Given the description of an element on the screen output the (x, y) to click on. 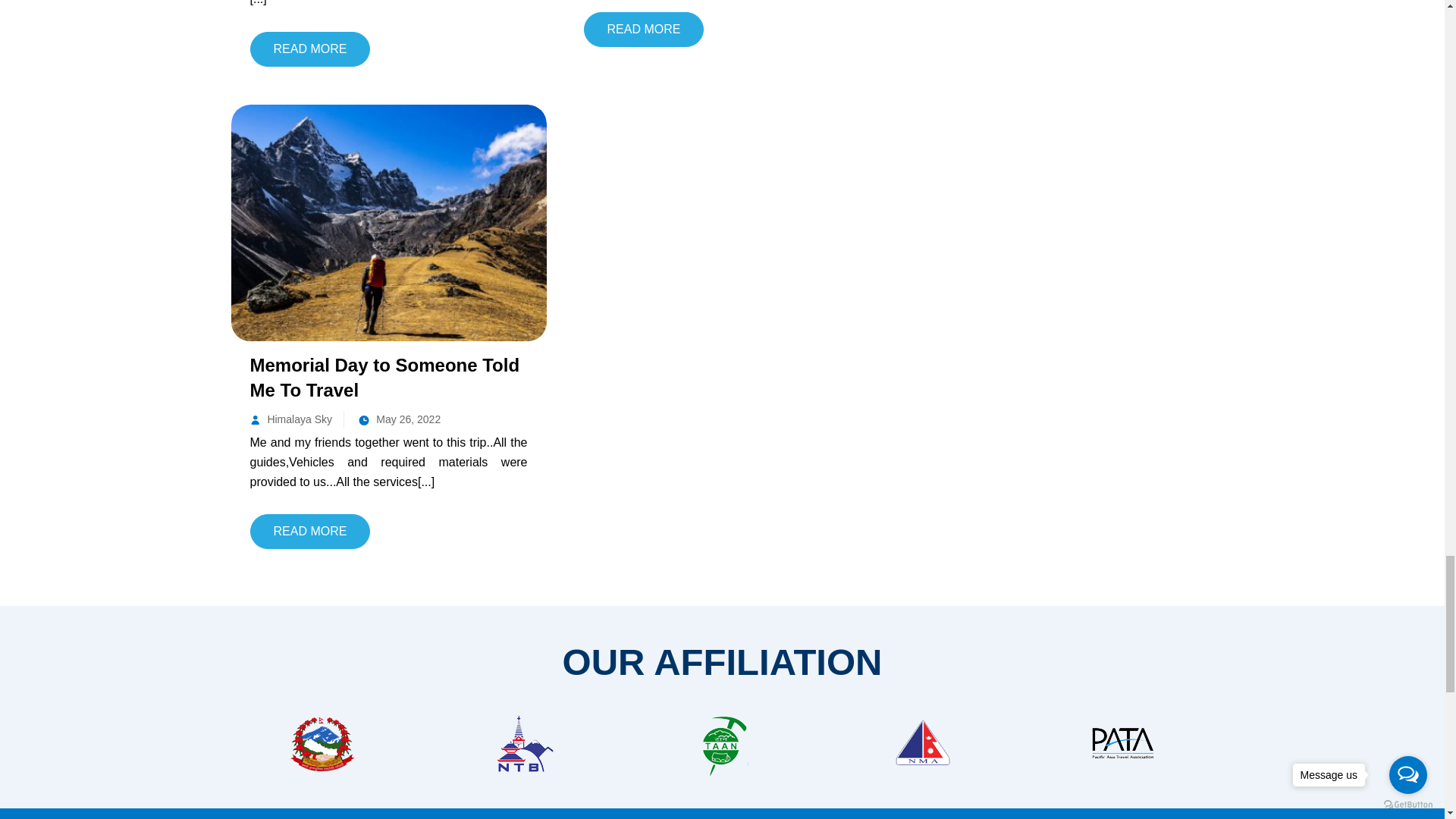
Memorial Day to Someone Told Me To Travel (388, 221)
